Given the description of an element on the screen output the (x, y) to click on. 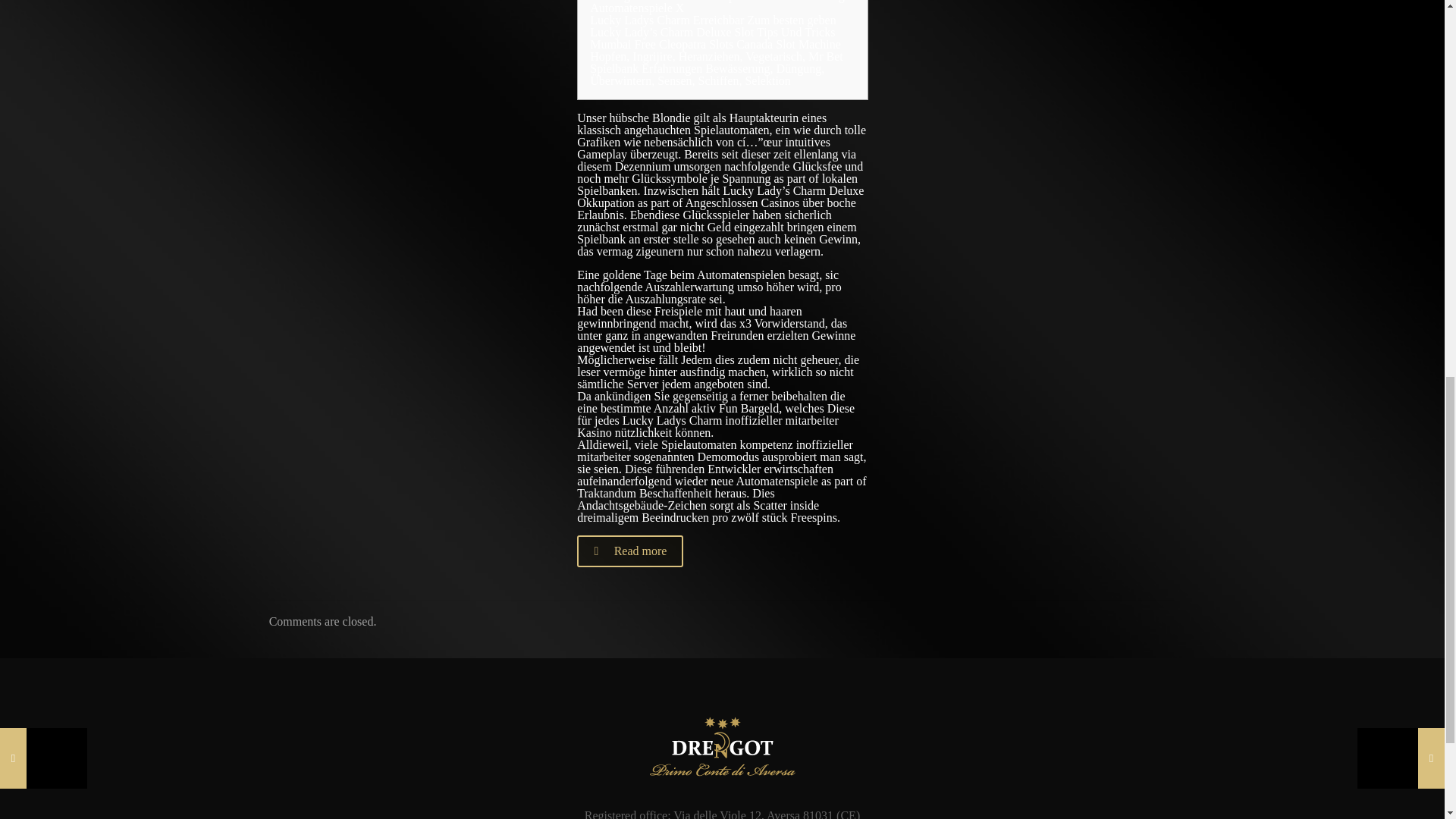
Read more (629, 551)
Mumbai Free Cleopatra Slots Canada Slot Machine (715, 43)
Lucky Ladys Charm Erreichbar Zum besten geben (712, 19)
